Given the description of an element on the screen output the (x, y) to click on. 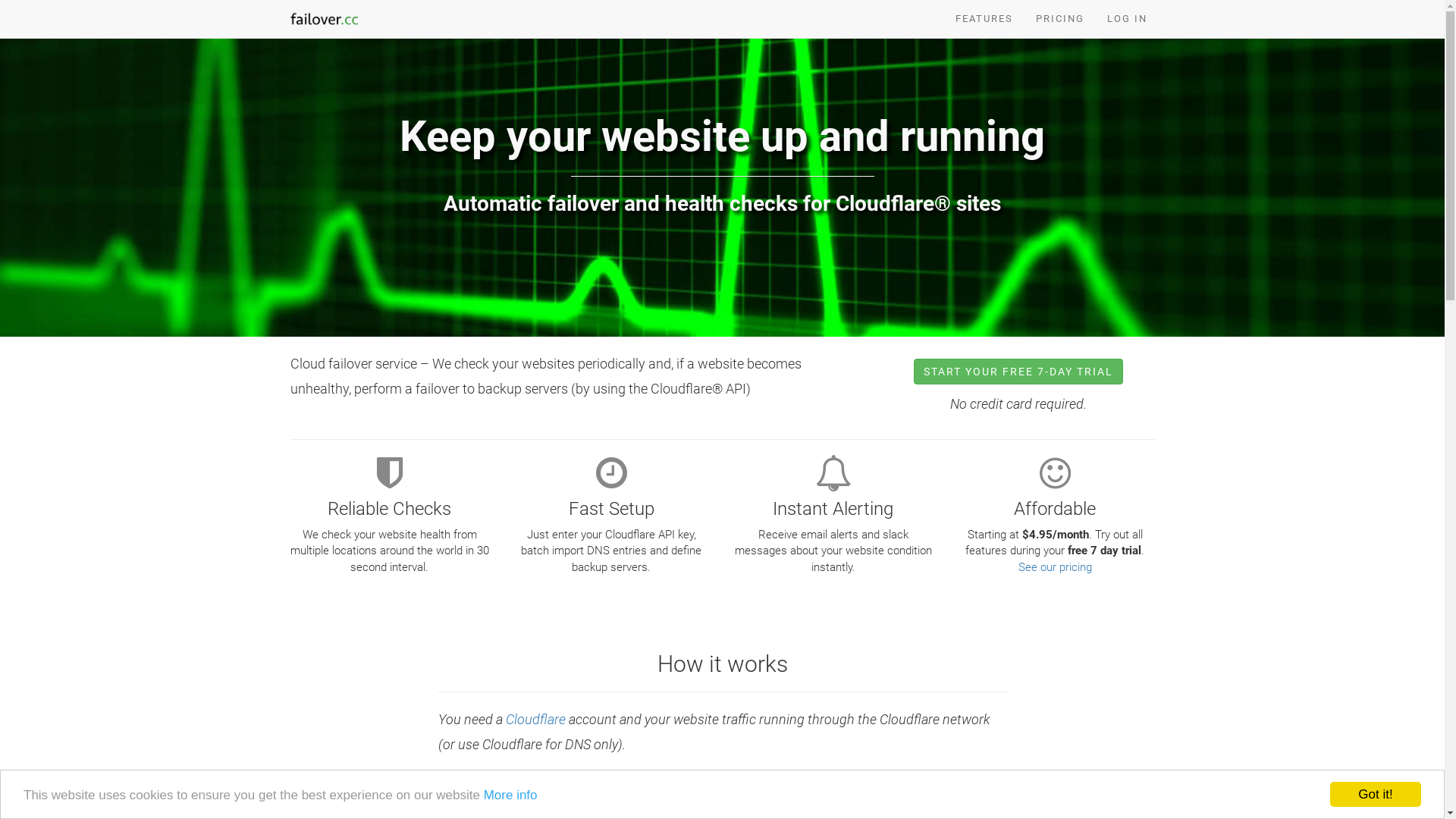
Got it! Element type: text (1375, 793)
FEATURES Element type: text (983, 18)
PRICING Element type: text (1059, 18)
START YOUR FREE 7-DAY TRIAL Element type: text (1017, 371)
Cloudflare Element type: text (534, 719)
LOG IN Element type: text (1126, 18)
More info Element type: text (510, 794)
See our pricing Element type: text (1055, 567)
